Given the description of an element on the screen output the (x, y) to click on. 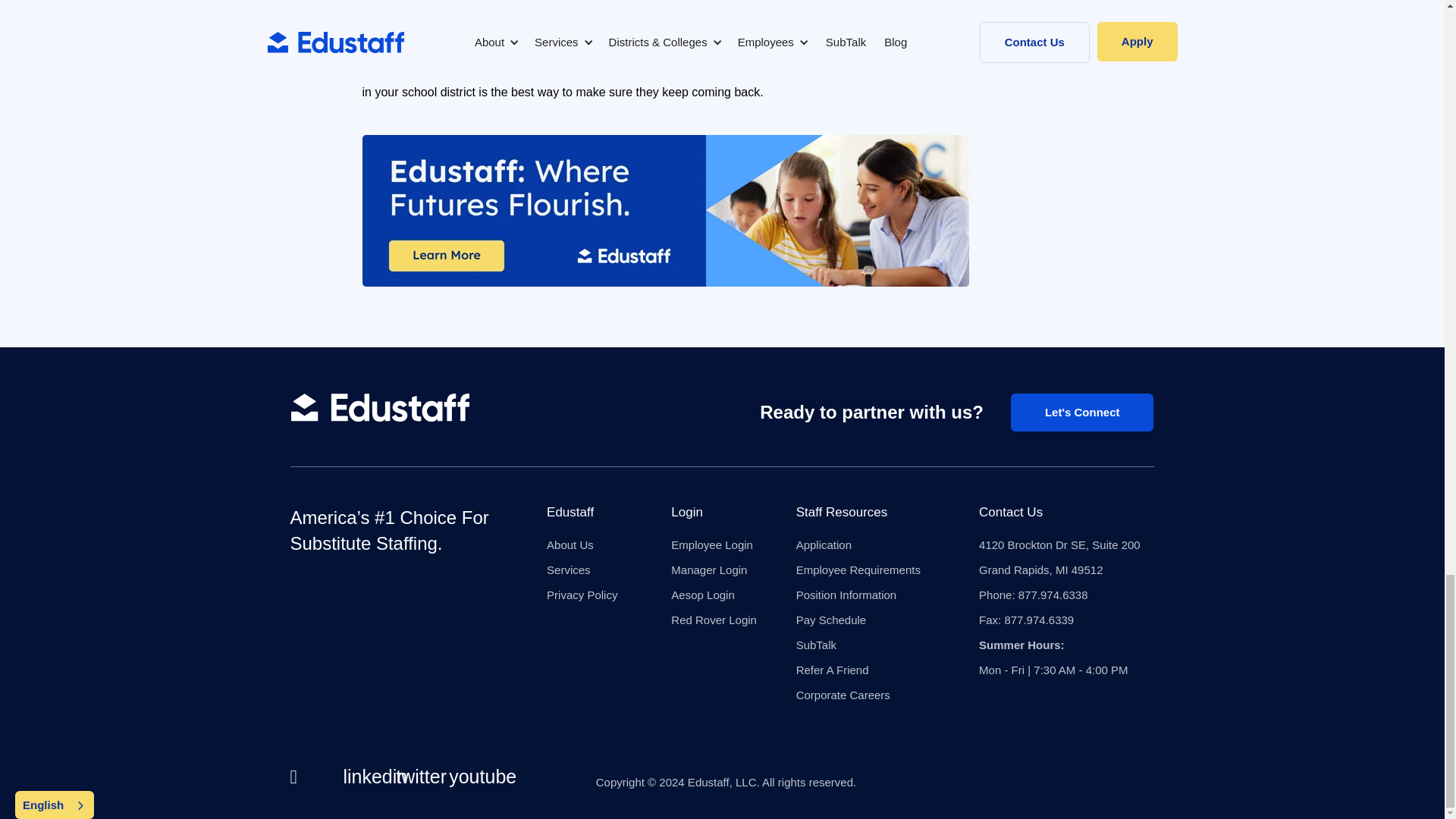
Manager Login (714, 569)
Services (582, 569)
Red Rover Login (714, 619)
Aesop Login (714, 594)
About Us (582, 544)
Pay Schedule (858, 619)
Privacy Policy (582, 594)
Position Information (858, 594)
Application (858, 544)
Let's Connect (1082, 412)
Employee Requirements (858, 569)
Employee Login (714, 544)
Embedded CTA (665, 210)
